Given the description of an element on the screen output the (x, y) to click on. 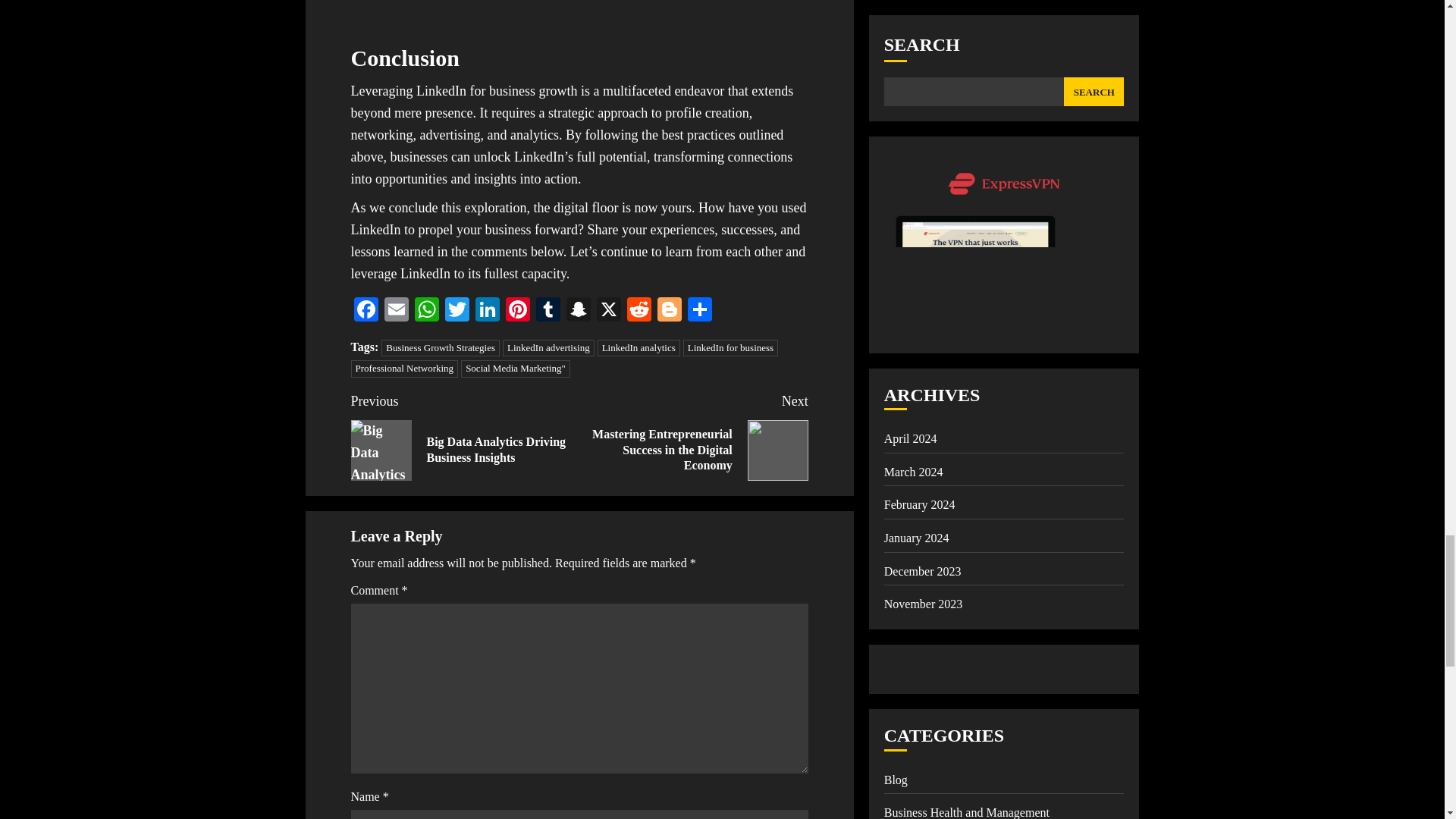
Email (395, 311)
Twitter (456, 311)
Pinterest (517, 311)
Snapchat (577, 311)
WhatsApp (425, 311)
Reddit (638, 311)
Facebook (365, 311)
LinkedIn (486, 311)
Tumblr (547, 311)
Blogger (668, 311)
